Given the description of an element on the screen output the (x, y) to click on. 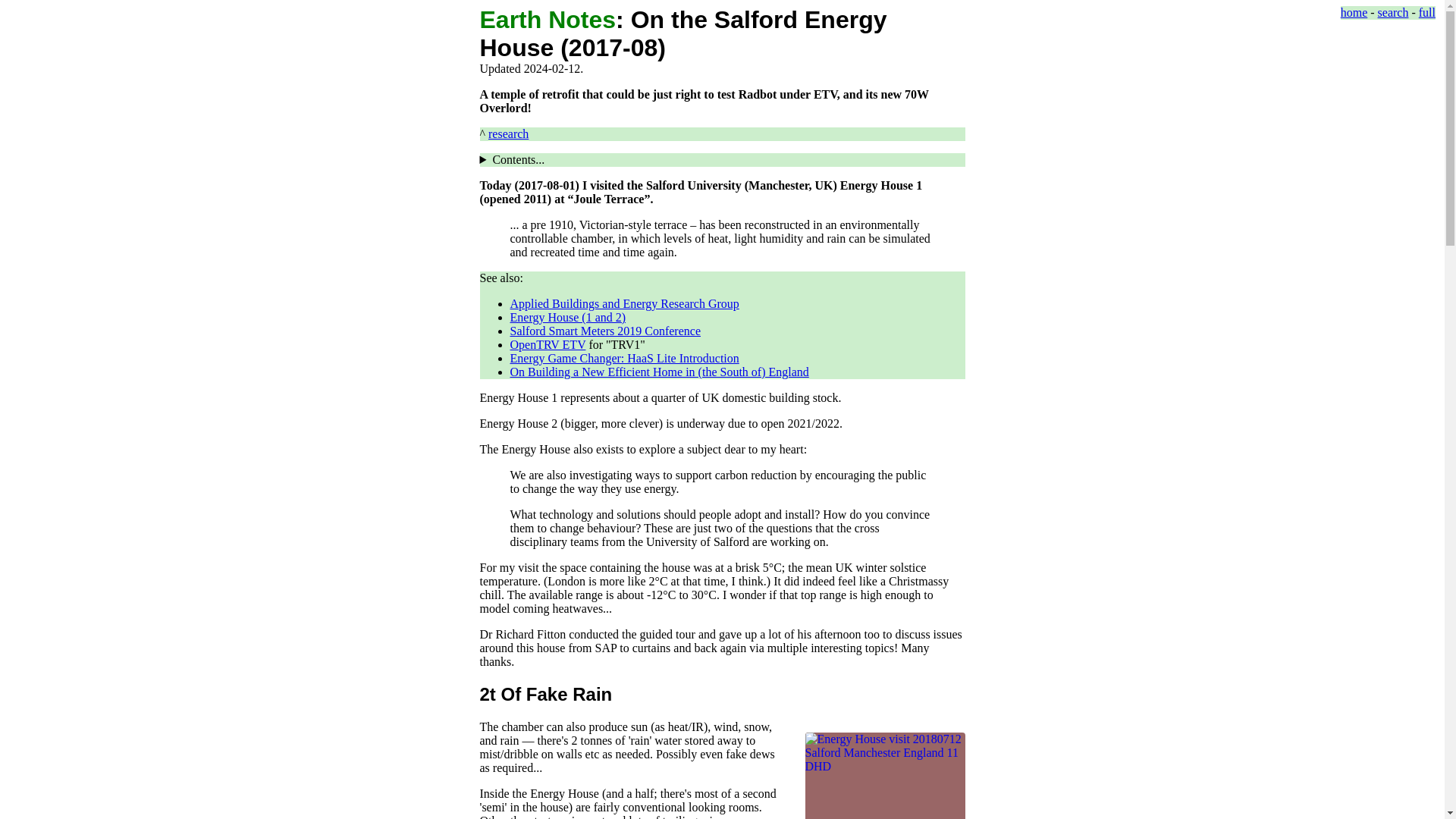
Energy Game Changer: HaaS Lite Introduction (623, 358)
Salford Smart Meters 2019 Conference (604, 330)
home (1354, 11)
OpenTRV ETV (547, 344)
research (507, 133)
search (1393, 11)
Applied Buildings and Energy Research Group (623, 303)
